Given the description of an element on the screen output the (x, y) to click on. 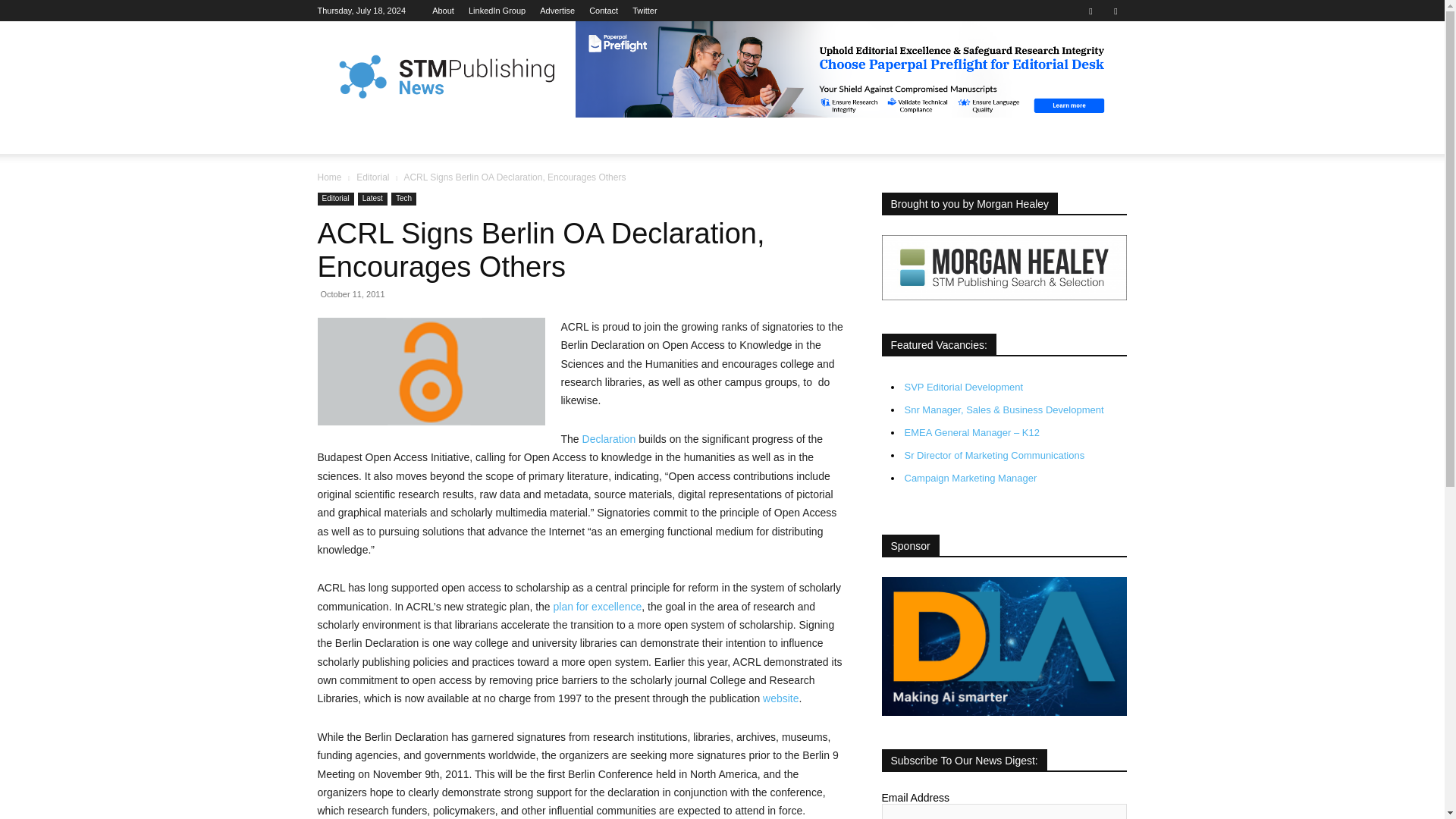
HOME (342, 135)
LinkedIn Group (496, 10)
Contact (603, 10)
About (443, 10)
Advertise (557, 10)
Twitter (1114, 10)
LinkedIn (496, 10)
Linkedin (1090, 10)
Twitter (643, 10)
FEATURED (411, 135)
